Given the description of an element on the screen output the (x, y) to click on. 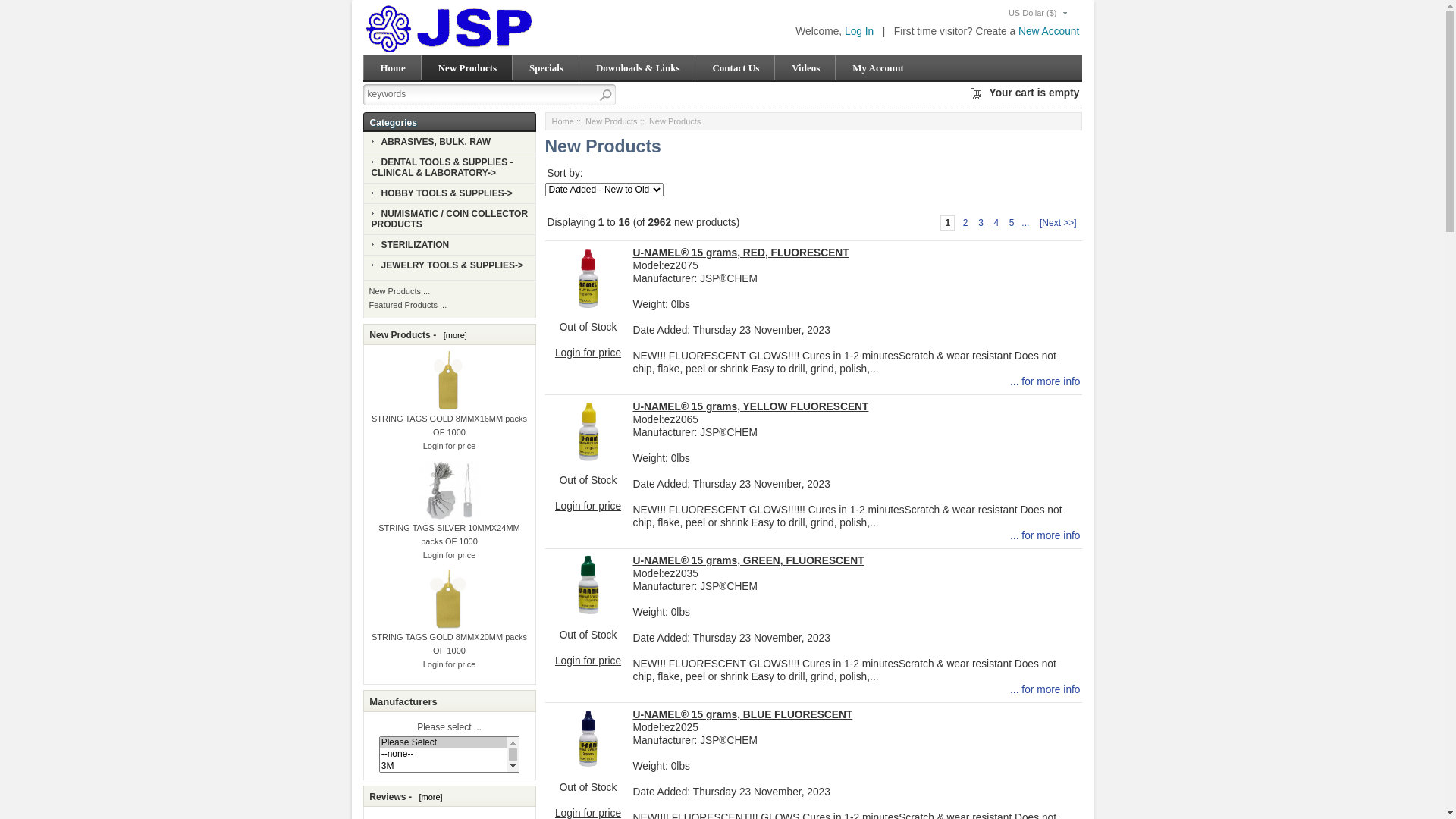
New Products ... Element type: text (400, 290)
Home Element type: text (393, 67)
Log In Element type: text (858, 31)
Powered by Zen Cart :: The Art of E-Commerce Element type: hover (527, 27)
My Account Element type: text (878, 67)
Contact Us Element type: text (736, 67)
STRING TAGS GOLD 8MMX20MM packs OF 1000 Element type: text (449, 623)
STRING TAGS GOLD 8MMX16MM packs OF 1000 Element type: hover (449, 381)
STRING TAGS GOLD 8MMX20MM packs OF 1000 Element type: hover (448, 599)
STRING TAGS GOLD 8MMX16MM packs OF 1000 Element type: text (449, 406)
2 Element type: text (965, 222)
HOBBY TOOLS & SUPPLIES-> Element type: text (441, 193)
Featured Products ... Element type: text (408, 304)
Videos Element type: text (806, 67)
  [more] Element type: text (428, 796)
DENTAL TOOLS & SUPPLIES - CLINICAL & LABORATORY-> Element type: text (442, 167)
  [more] Element type: text (453, 334)
Specials Element type: text (546, 67)
US Dollar ($) Element type: text (1032, 12)
JEWELRY TOOLS & SUPPLIES-> Element type: text (447, 265)
... for more info Element type: text (1044, 381)
3 Element type: text (980, 222)
Downloads & Links Element type: text (638, 67)
NUMISMATIC / COIN COLLECTOR PRODUCTS Element type: text (449, 218)
Login for price Element type: text (588, 660)
STERILIZATION Element type: text (410, 244)
New Products Element type: text (467, 67)
Login for price Element type: text (588, 352)
... for more info Element type: text (1044, 535)
Home Element type: text (563, 120)
... for more info Element type: text (1044, 689)
4 Element type: text (995, 222)
5 Element type: text (1011, 222)
Login for price Element type: text (588, 505)
... Element type: text (1024, 222)
[Next >>] Element type: text (1058, 222)
STRING TAGS SILVER 10MMX24MM packs OF 1000 Element type: text (448, 514)
New Account Element type: text (1048, 31)
STRING TAGS SILVER 10MMX24MM packs OF 1000 Element type: hover (448, 490)
ABRASIVES, BULK, RAW Element type: text (431, 141)
